Given the description of an element on the screen output the (x, y) to click on. 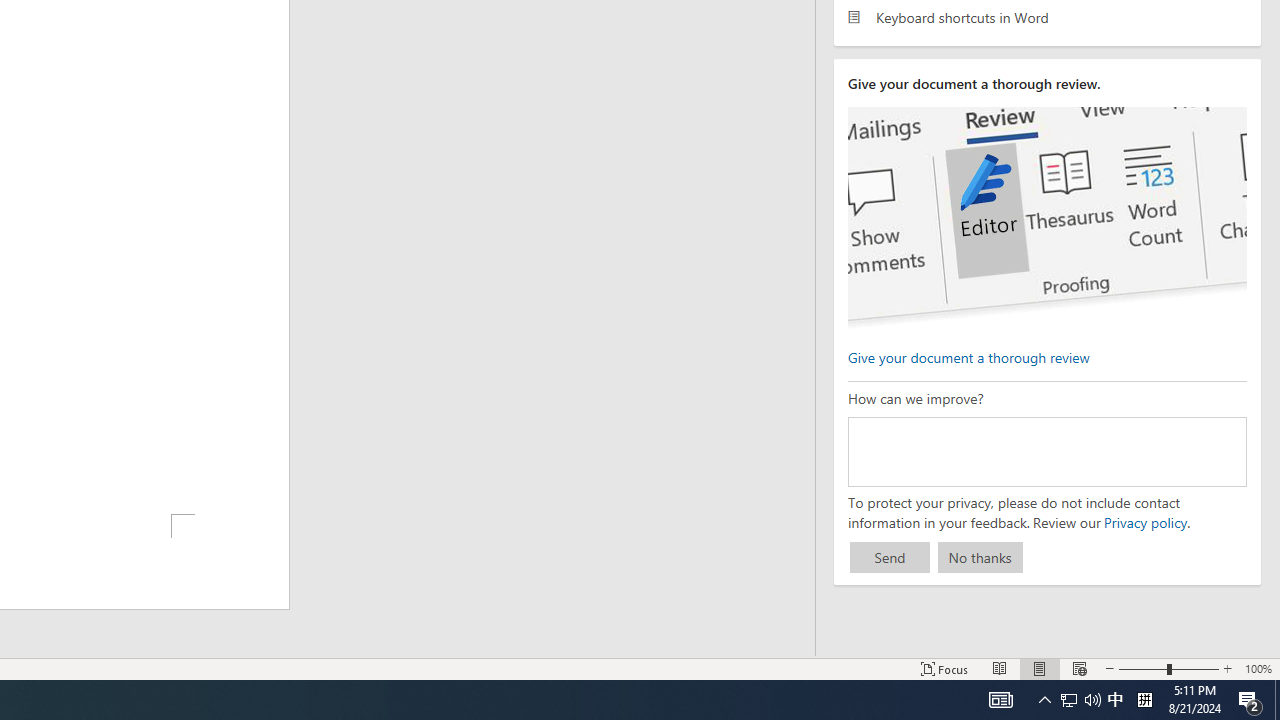
Zoom Out (1142, 668)
Zoom 100% (1258, 668)
Web Layout (1079, 668)
Keyboard shortcuts in Word (1047, 16)
Give your document a thorough review (968, 356)
Privacy policy (1144, 522)
Zoom (1168, 668)
editor ui screenshot (1046, 218)
Focus  (944, 668)
How can we improve? (1046, 451)
Zoom In (1227, 668)
Read Mode (1000, 668)
Send (889, 557)
No thanks (980, 557)
Print Layout (1039, 668)
